Given the description of an element on the screen output the (x, y) to click on. 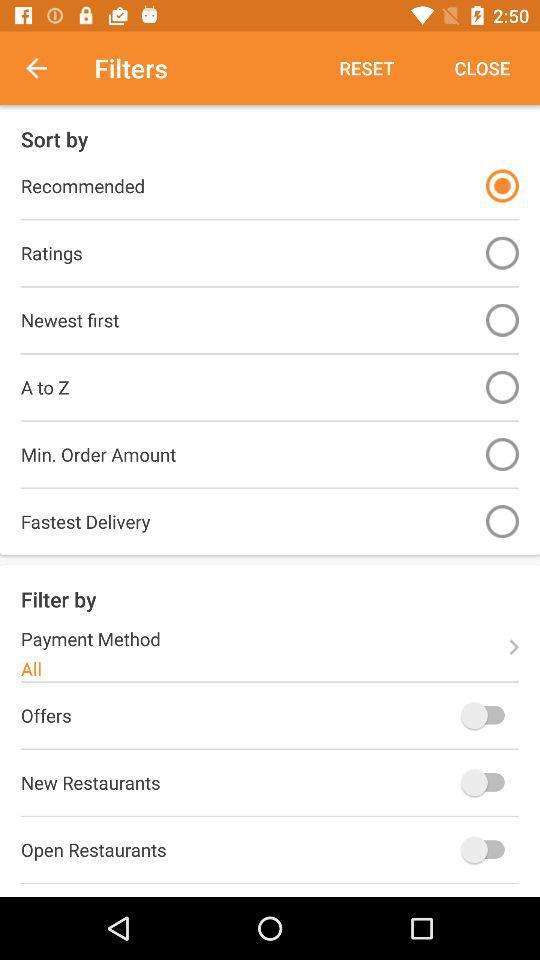
select this option (502, 185)
